Given the description of an element on the screen output the (x, y) to click on. 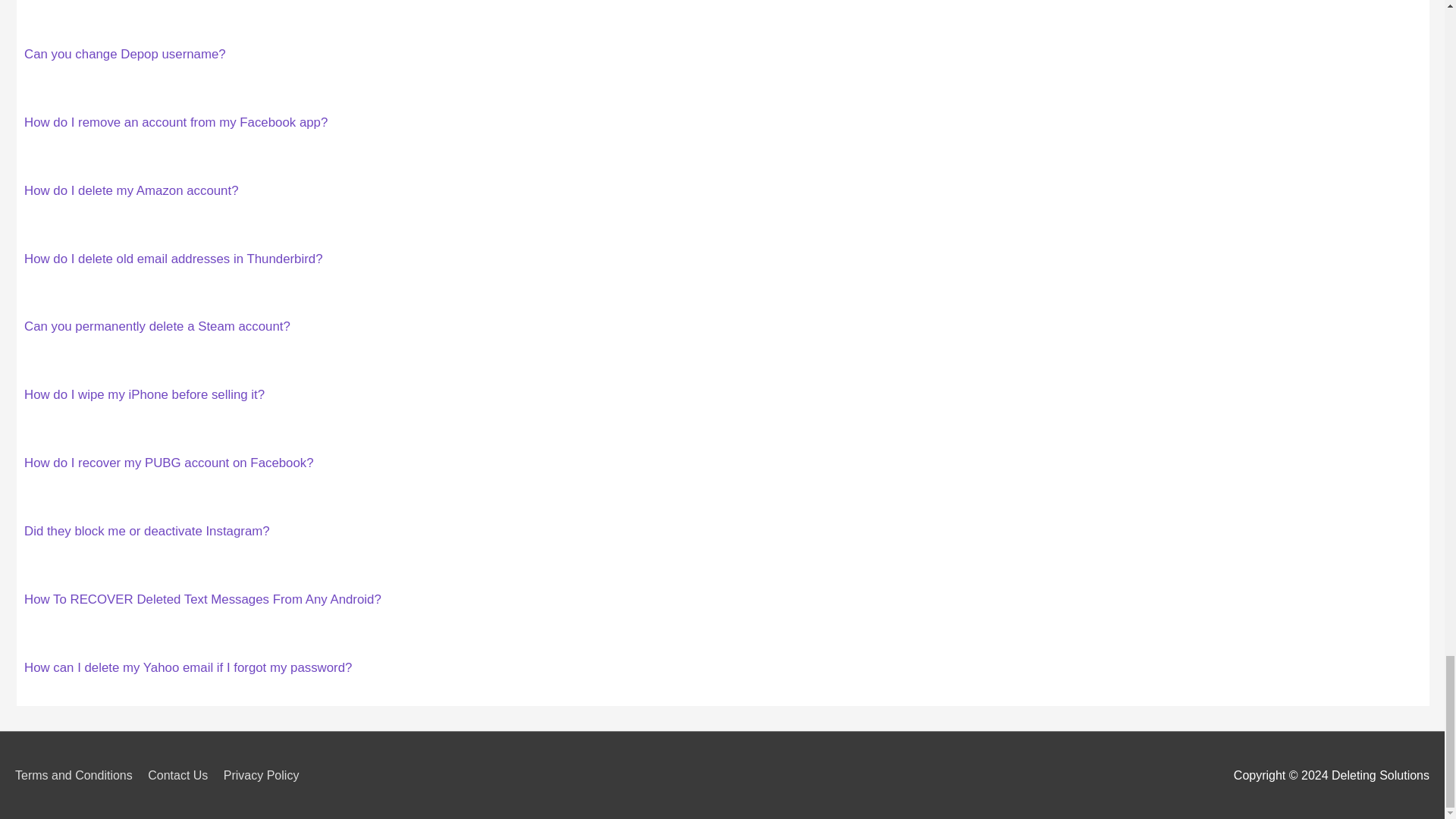
Did they block me or deactivate Instagram? (146, 531)
Can you permanently delete a Steam account? (156, 326)
How do I remove an account from my Facebook app? (175, 122)
How do I delete old email addresses in Thunderbird? (173, 258)
How do I delete my Amazon account? (131, 190)
How To RECOVER Deleted Text Messages From Any Android? (202, 599)
Privacy Policy (267, 775)
Contact Us (183, 775)
How can I delete my Yahoo email if I forgot my password? (188, 667)
How do I wipe my iPhone before selling it? (144, 394)
